Given the description of an element on the screen output the (x, y) to click on. 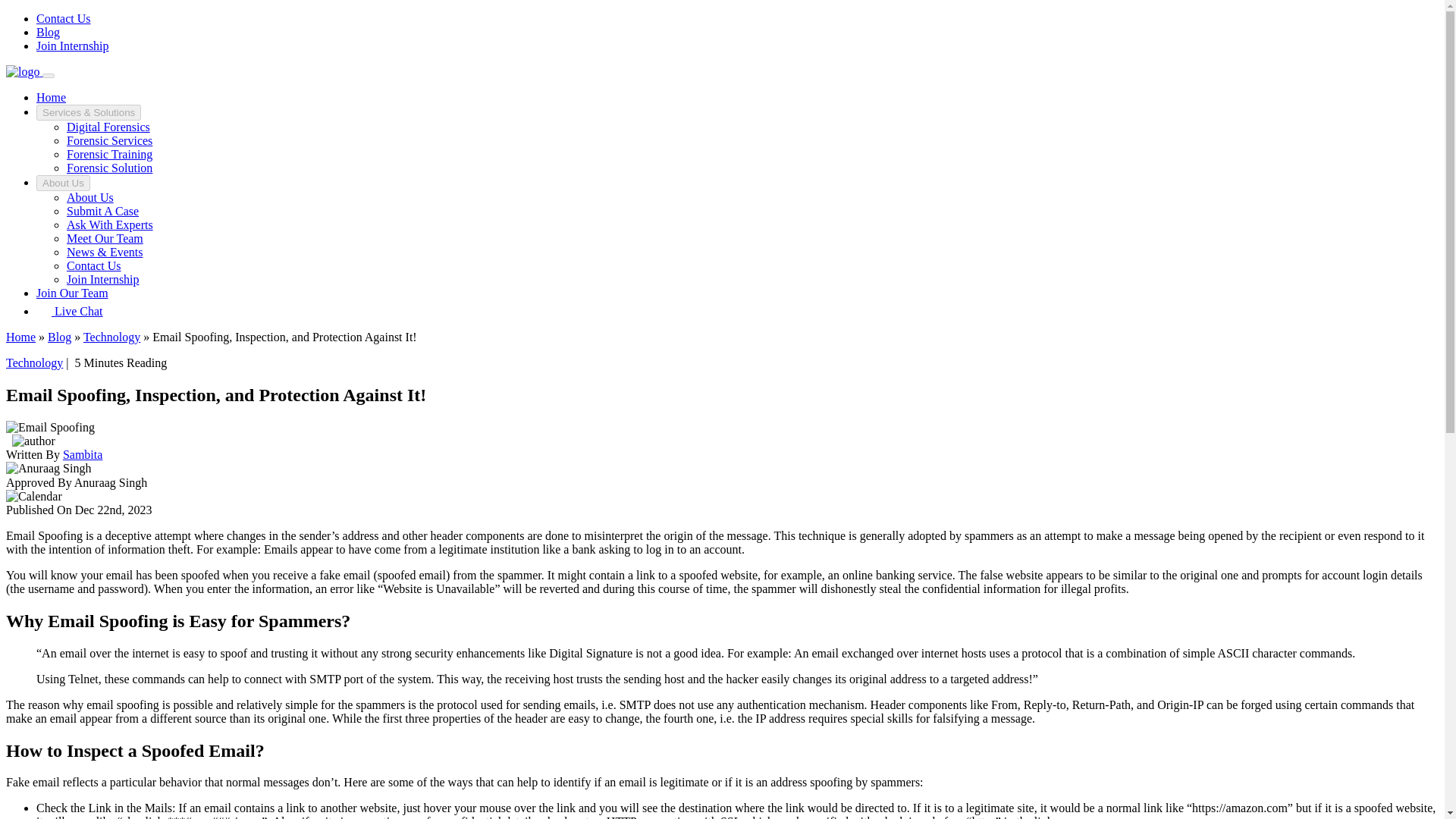
Blog (59, 336)
Technology (33, 362)
Ask With Experts (109, 224)
Sambita (81, 454)
Join Internship (102, 278)
Submit A Case (102, 210)
Blog (47, 31)
About Us (89, 196)
Live Chat (69, 310)
Join Our Team (71, 292)
Forensic Training (109, 154)
Forensic Solution (109, 167)
Home (19, 336)
Technology (110, 336)
Forensic Services (109, 140)
